Given the description of an element on the screen output the (x, y) to click on. 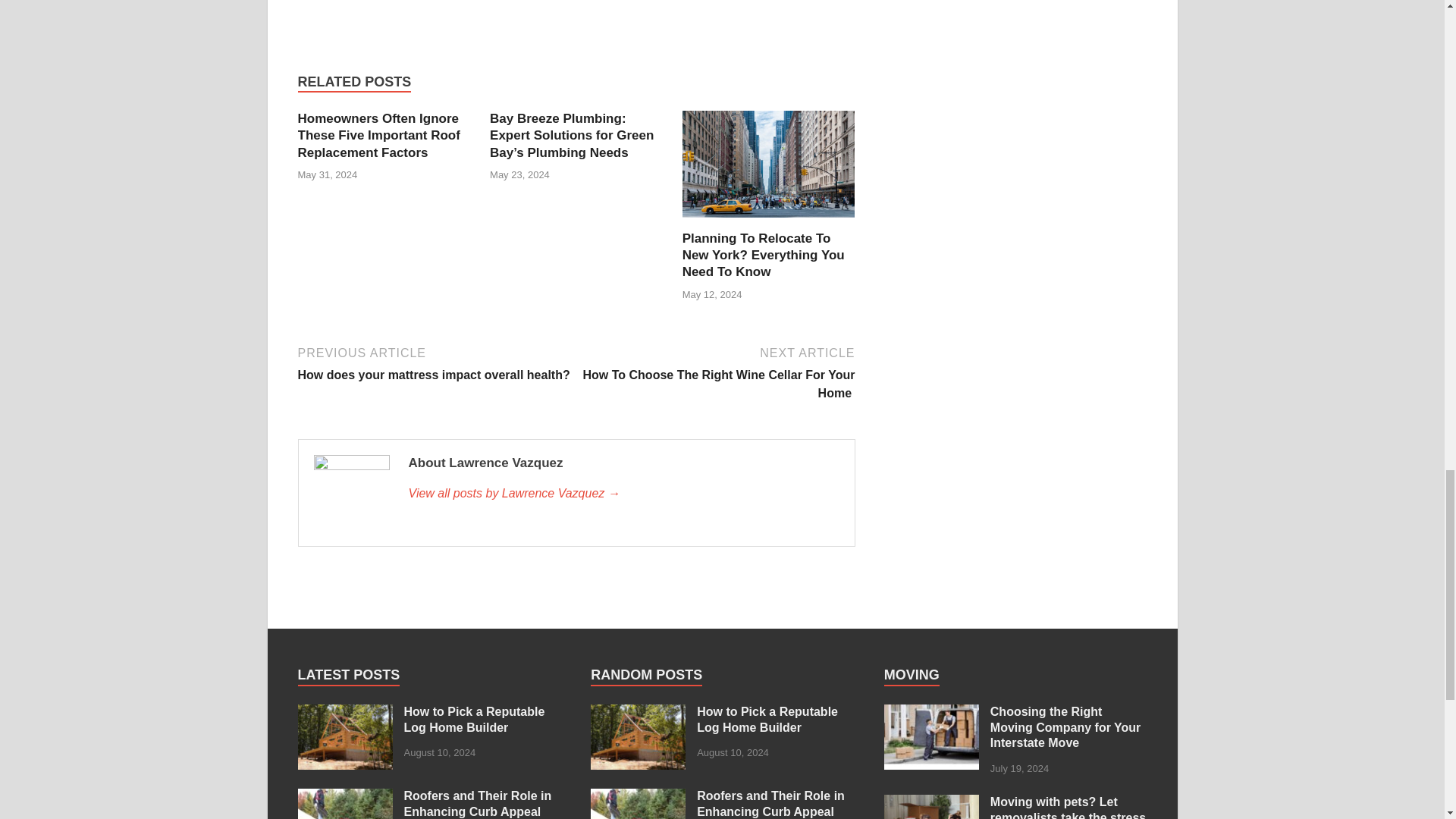
How to Pick a Reputable Log Home Builder (344, 712)
Roofers and Their Role in Enhancing Curb Appeal (344, 797)
Lawrence Vazquez (622, 493)
